Given the description of an element on the screen output the (x, y) to click on. 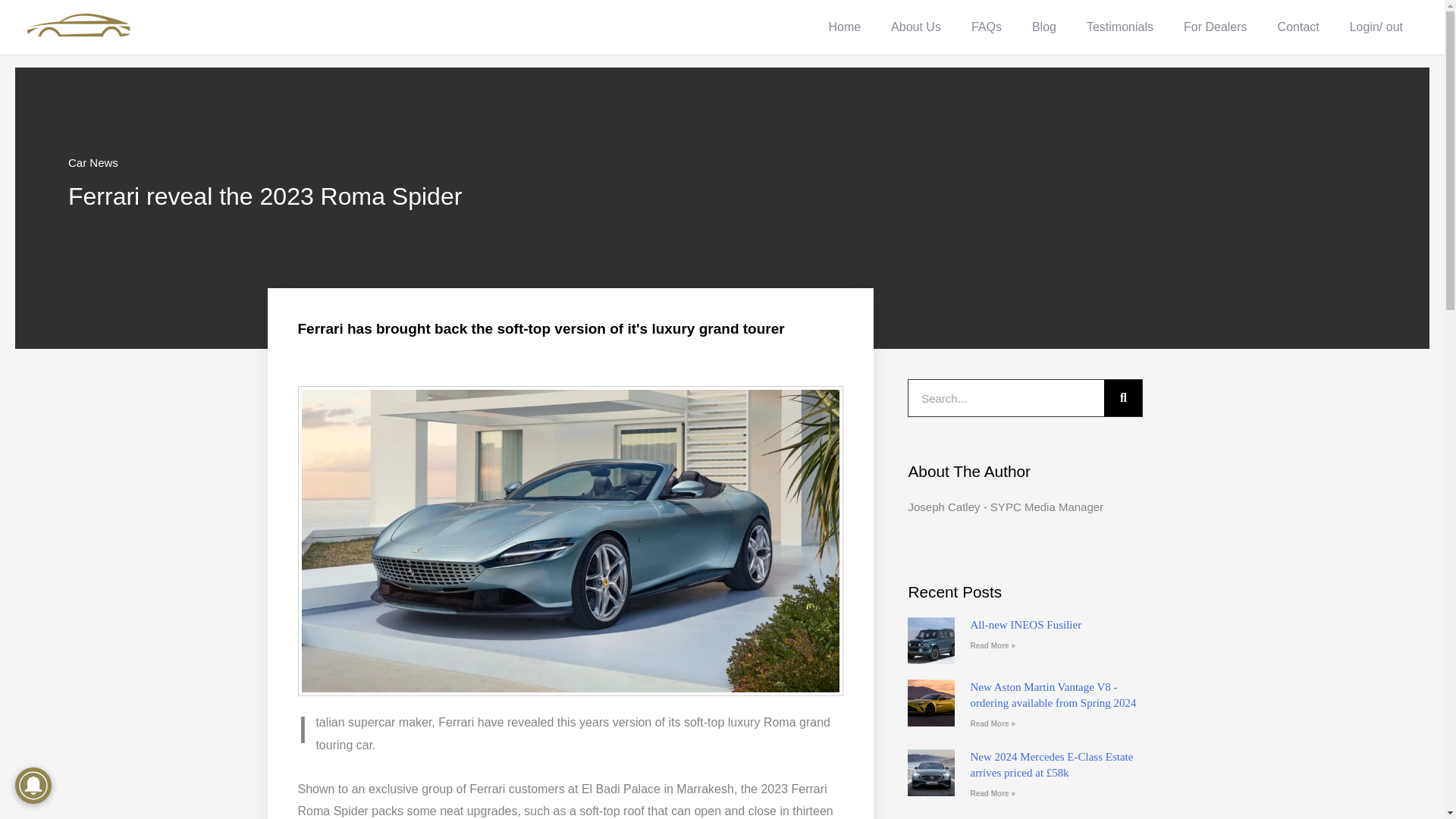
Contact (1298, 27)
Car News (92, 162)
All-new INEOS Fusilier (1025, 624)
FAQs (986, 27)
For Dealers (1215, 27)
Search (1122, 398)
Blog (1043, 27)
Testimonials (1120, 27)
Home (844, 27)
